Given the description of an element on the screen output the (x, y) to click on. 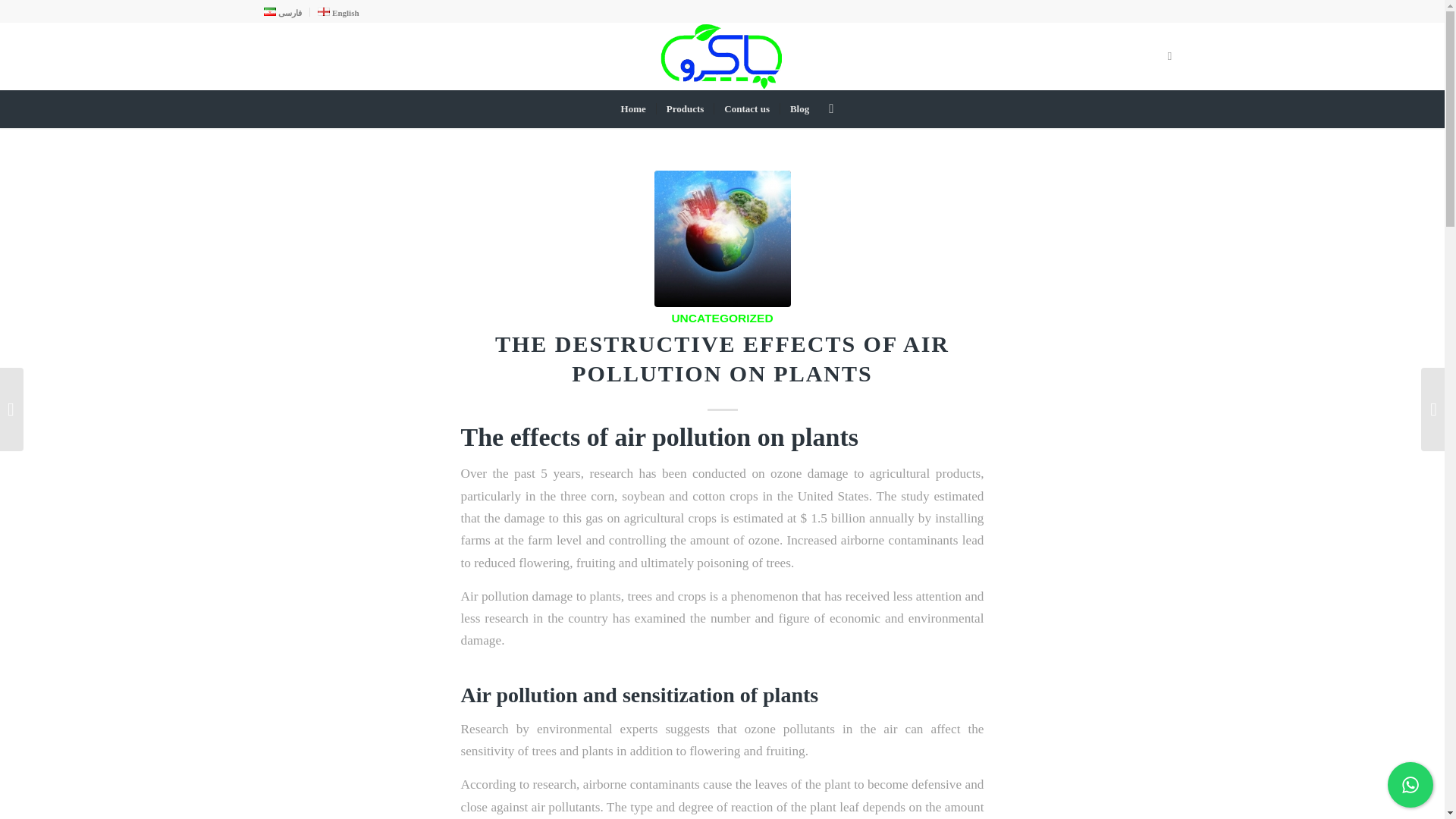
Contact us (745, 108)
English (338, 12)
UNCATEGORIZED (722, 318)
Blog (798, 108)
Instagram (1169, 56)
Products (685, 108)
THE DESTRUCTIVE EFFECTS OF AIR POLLUTION ON PLANTS (721, 238)
THE DESTRUCTIVE EFFECTS OF AIR POLLUTION ON PLANTS (722, 358)
Home (633, 108)
